Given the description of an element on the screen output the (x, y) to click on. 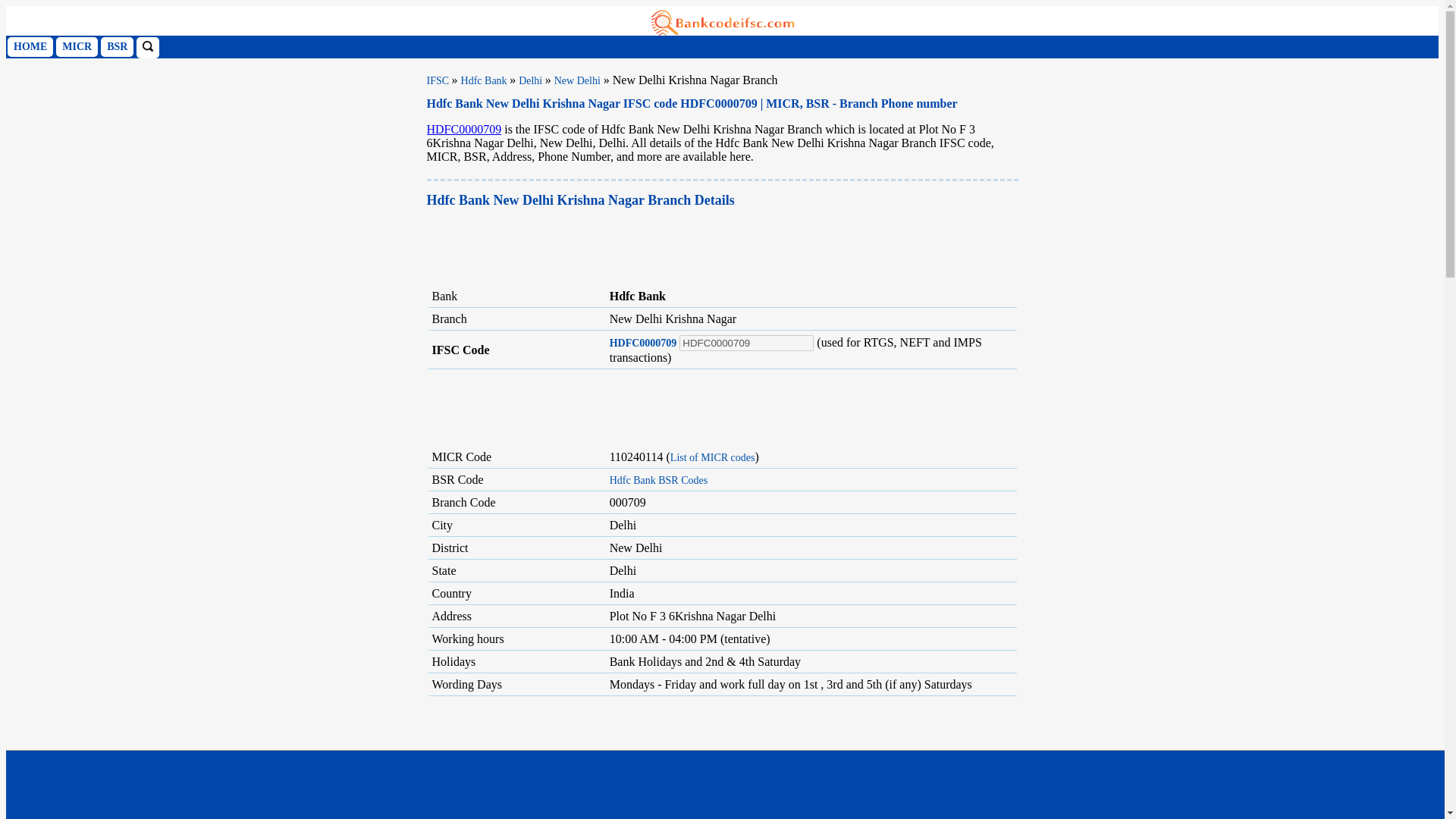
Hdfc Bank (486, 80)
Delhi (531, 80)
Hdfc Bank BSR Codes (658, 480)
Advertisement (721, 404)
IFSC (438, 80)
HDFC0000709 (463, 128)
List of MICR codes (712, 457)
Advertisement (727, 785)
MICR (76, 46)
HDFC0000709 (746, 342)
HDFC0000709 (643, 342)
HOME (29, 46)
Advertisement (702, 246)
BSR (116, 46)
Advertisement (721, 757)
